Given the description of an element on the screen output the (x, y) to click on. 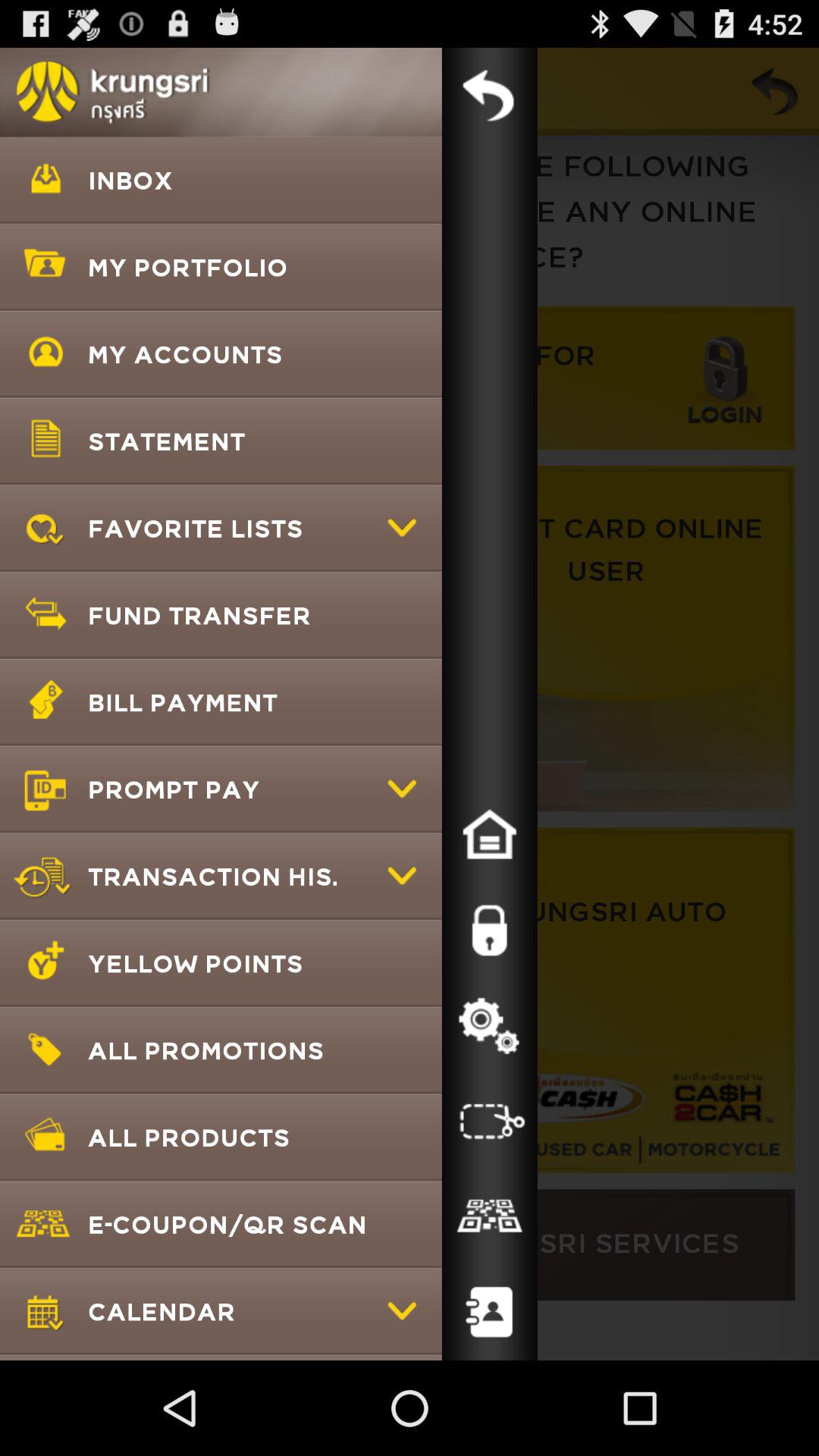
krungsri (489, 95)
